Given the description of an element on the screen output the (x, y) to click on. 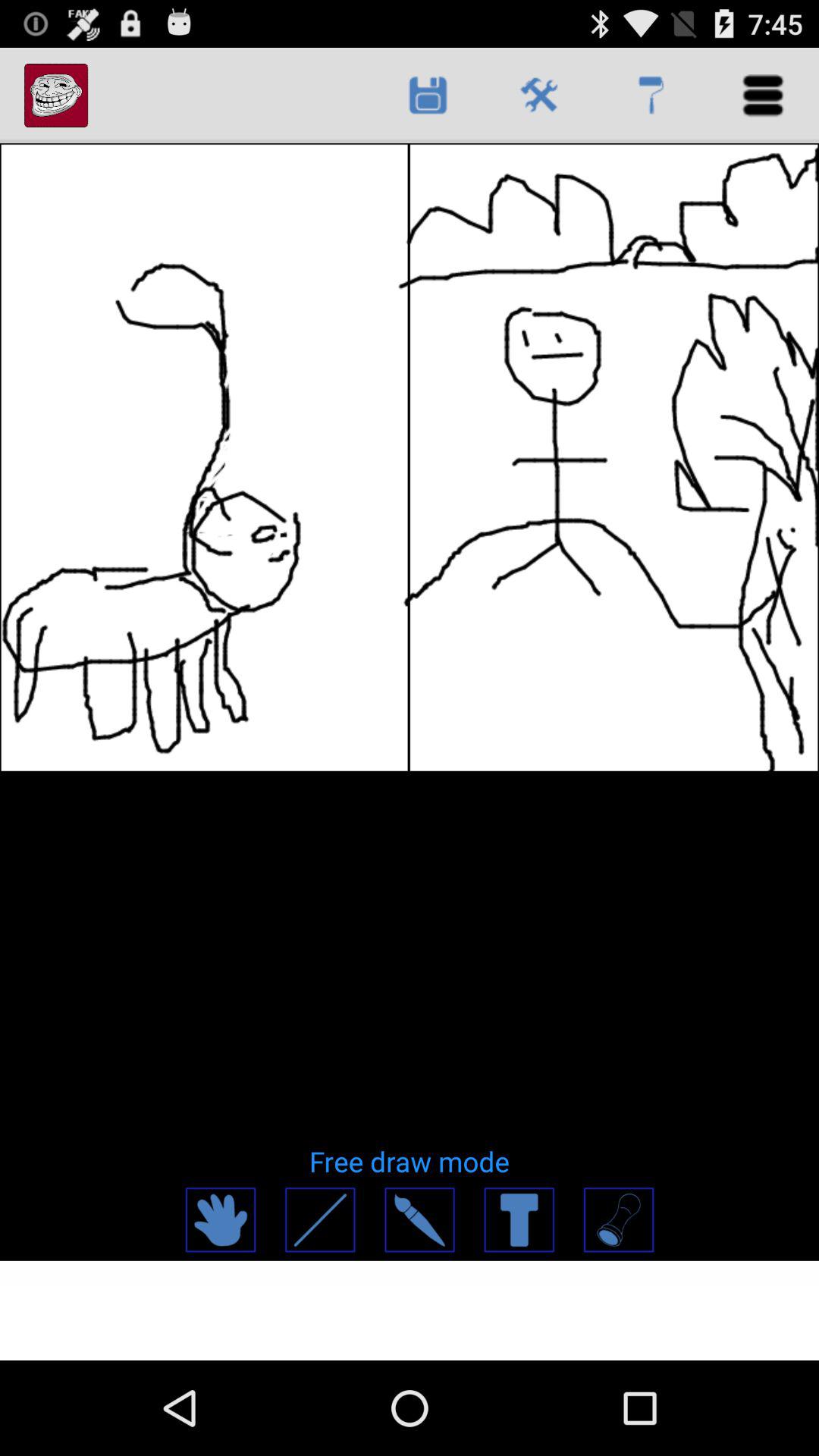
drawing tool button (618, 1219)
